Given the description of an element on the screen output the (x, y) to click on. 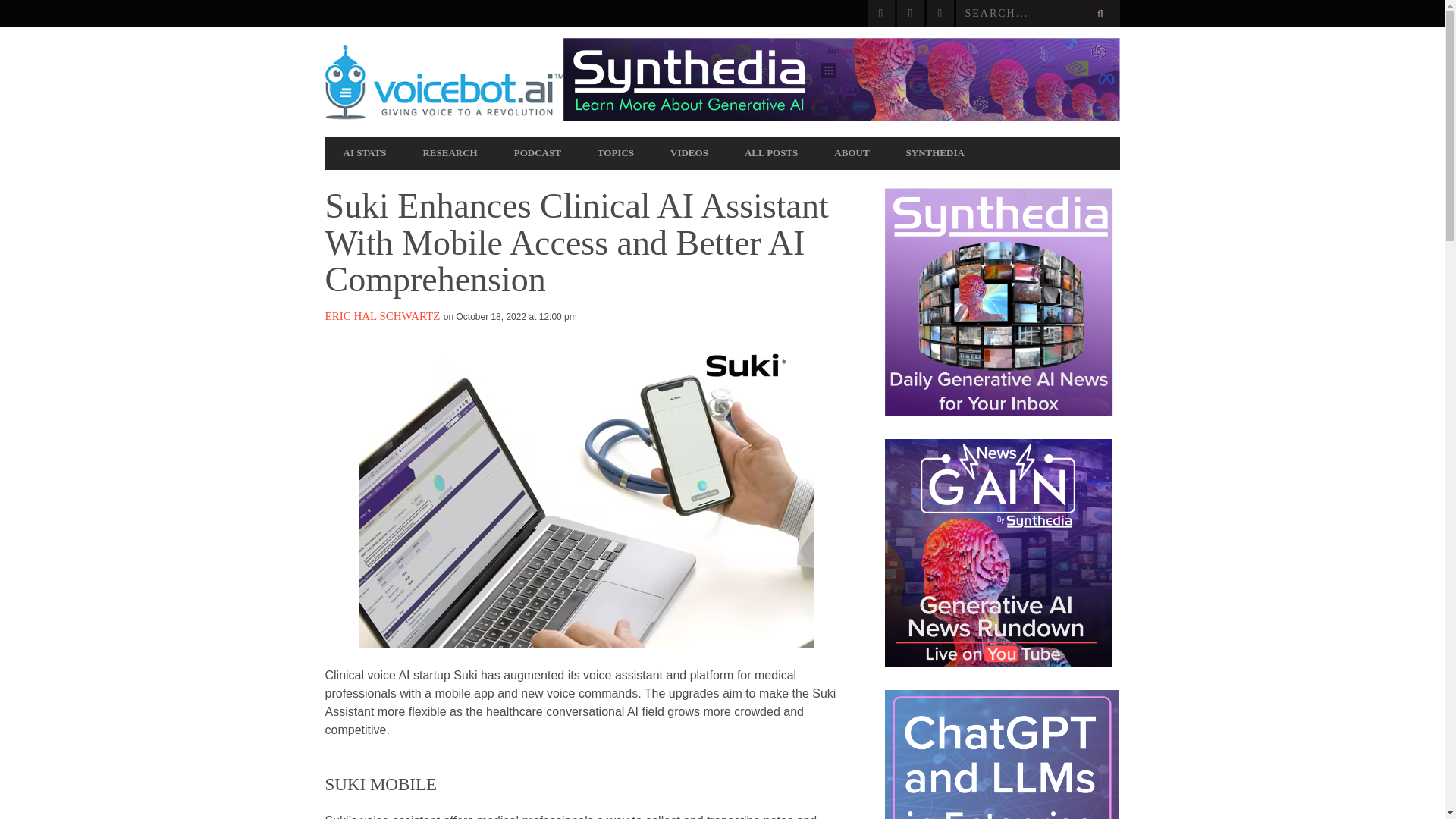
Voicebot.ai (443, 81)
Posts by Eric Hal Schwartz (381, 316)
